Given the description of an element on the screen output the (x, y) to click on. 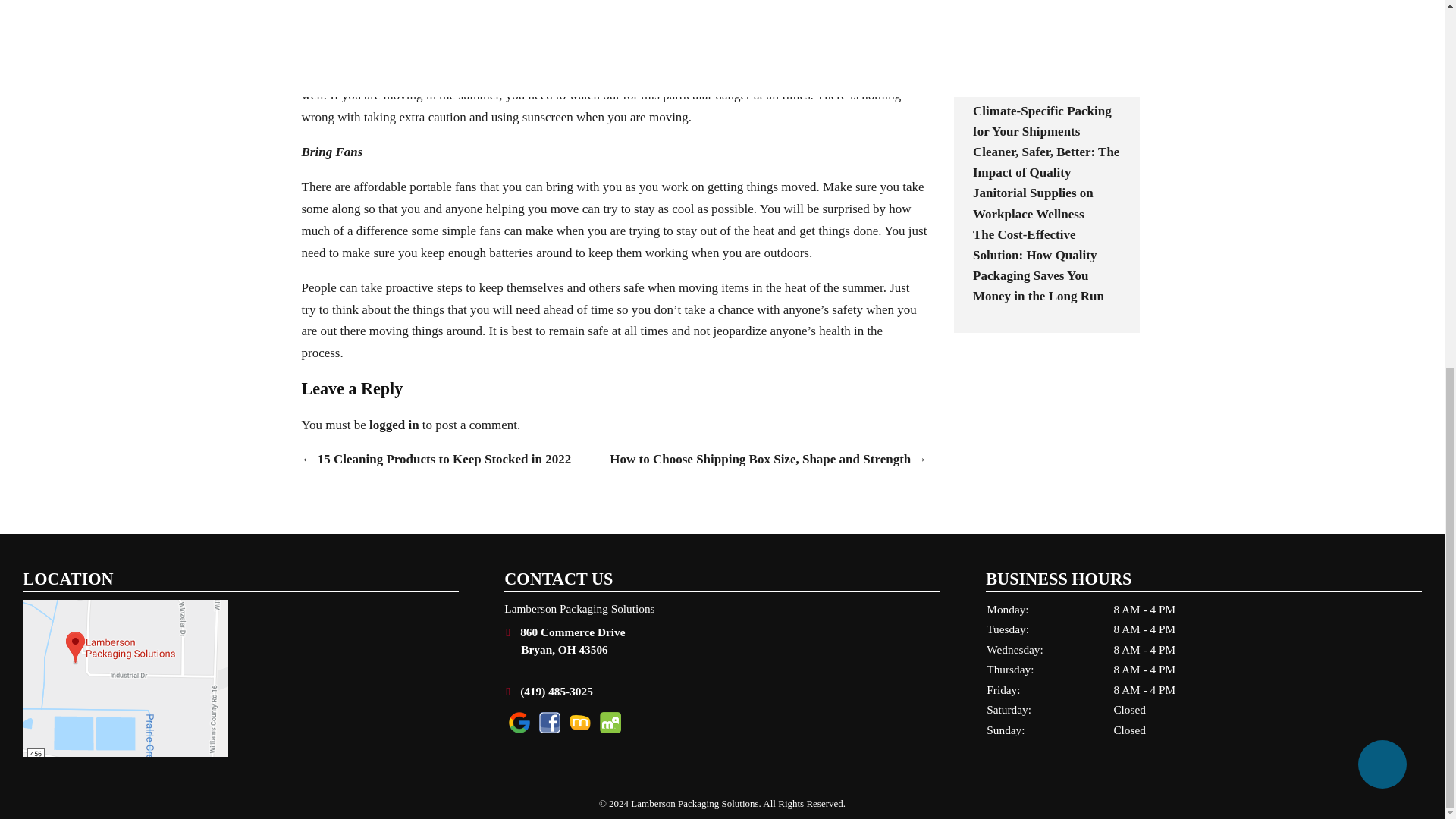
Ensuring Workplace Safety with Nitrile Gloves (1043, 58)
logged in (394, 424)
